Given the description of an element on the screen output the (x, y) to click on. 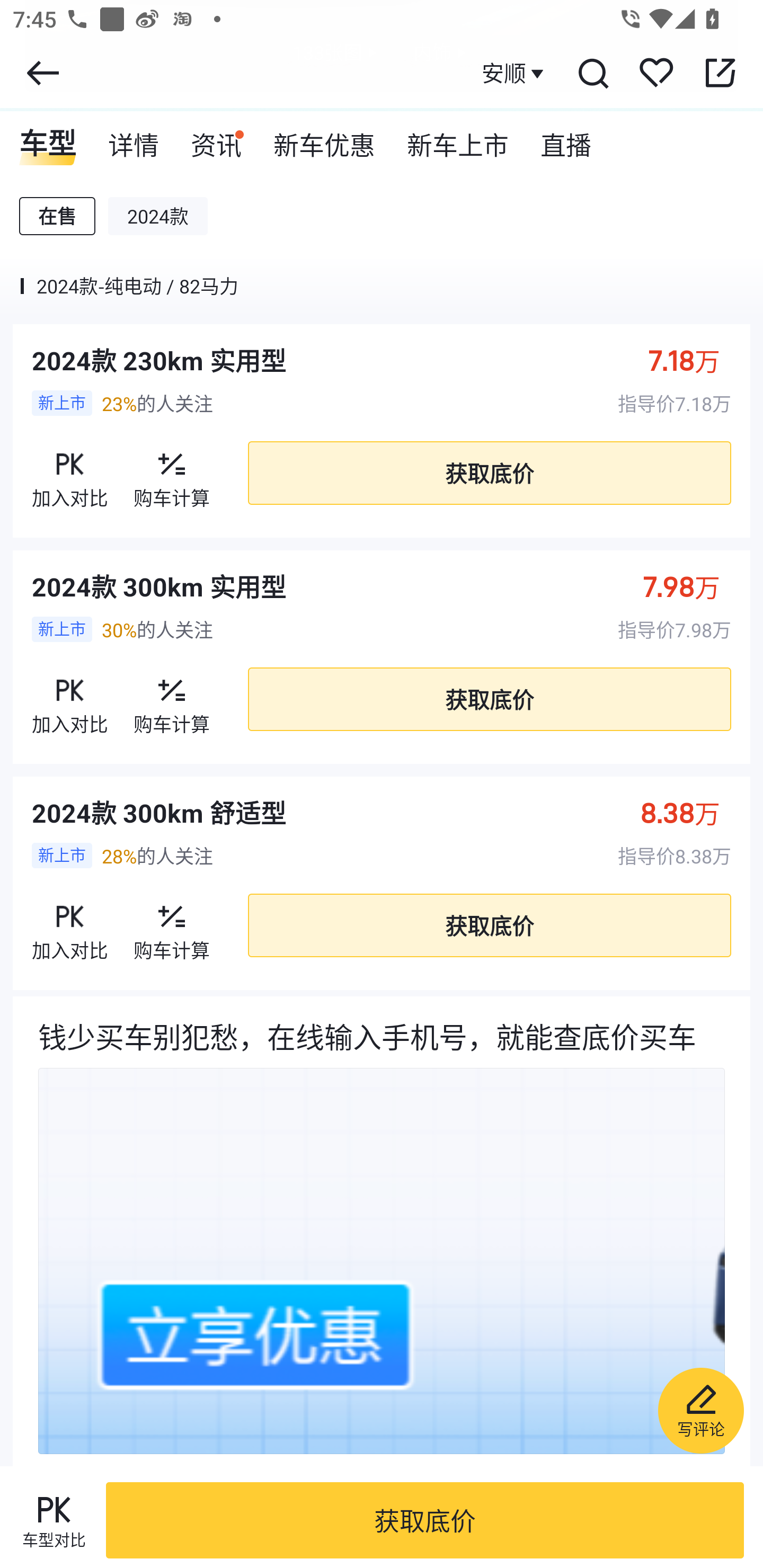
 (42, 72)
 (592, 72)
 (720, 72)
安顺 (514, 73)
车型 (47, 138)
详情 (133, 138)
资讯 (215, 138)
新车优惠 (324, 138)
新车上市 (457, 138)
直播 (565, 138)
在售 (57, 216)
2024款 (157, 216)
7.18 万 (693, 360)
加入对比 (70, 473)
 购车计算 (171, 473)
获取底价 (489, 472)
7.98 万 (690, 586)
加入对比 (70, 698)
 购车计算 (171, 698)
获取底价 (489, 699)
8.38 万 (689, 811)
加入对比 (70, 924)
 购车计算 (171, 924)
获取底价 (489, 925)
钱少买车别犯愁，在线输入手机号，就能查底价买车 (381, 1230)
写评论 (700, 1410)
车型对比 (53, 1520)
获取底价 (424, 1519)
